Given the description of an element on the screen output the (x, y) to click on. 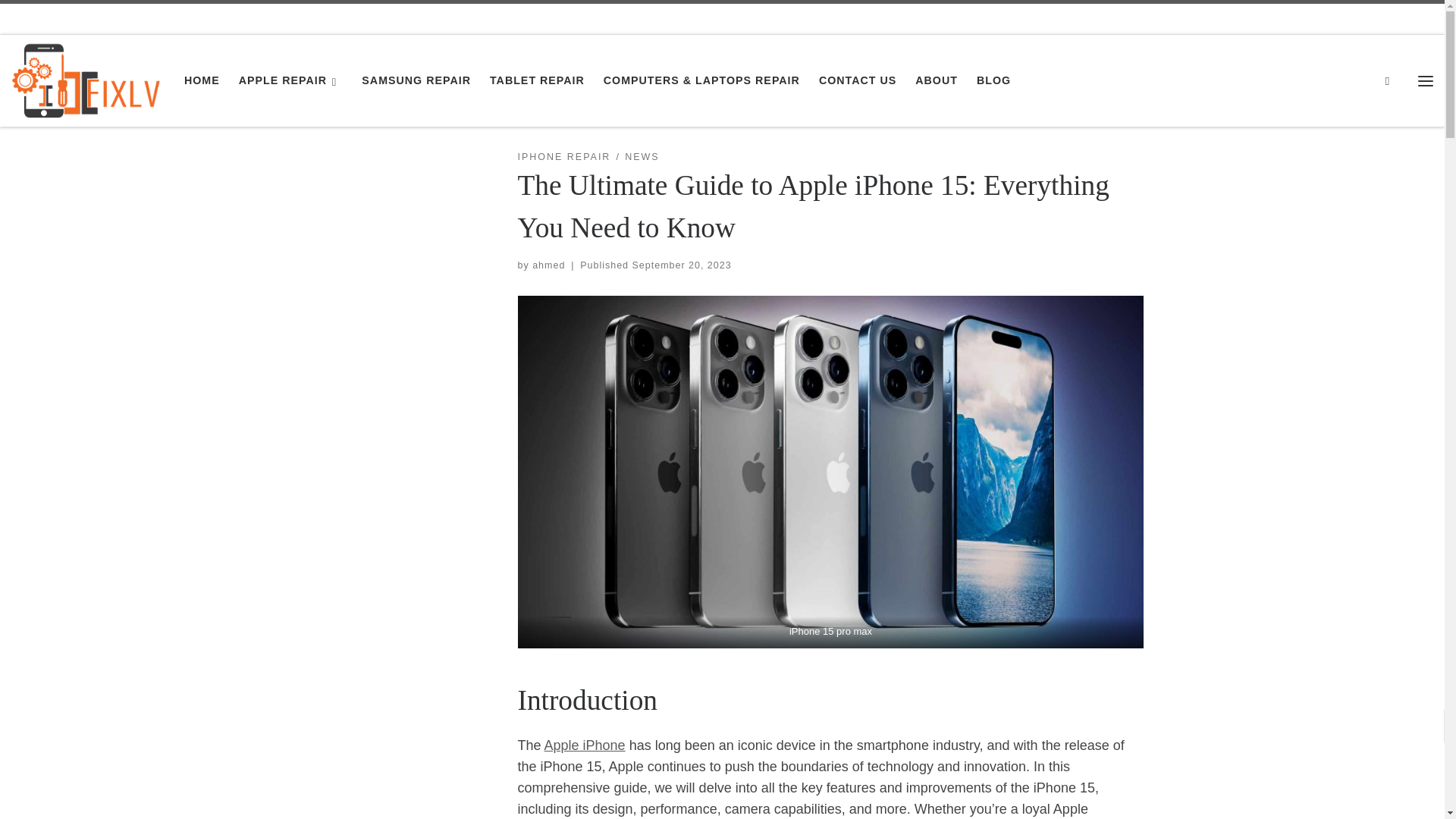
APPLE REPAIR (289, 80)
5:28 pm (681, 265)
HOME (201, 80)
ABOUT (936, 80)
SAMSUNG REPAIR (416, 80)
View all posts in iPhone Repair (563, 156)
View all posts by ahmed (548, 265)
TABLET REPAIR (536, 80)
BLOG (994, 80)
CONTACT US (857, 80)
Skip to content (60, 20)
View all posts in News (641, 156)
